Given the description of an element on the screen output the (x, y) to click on. 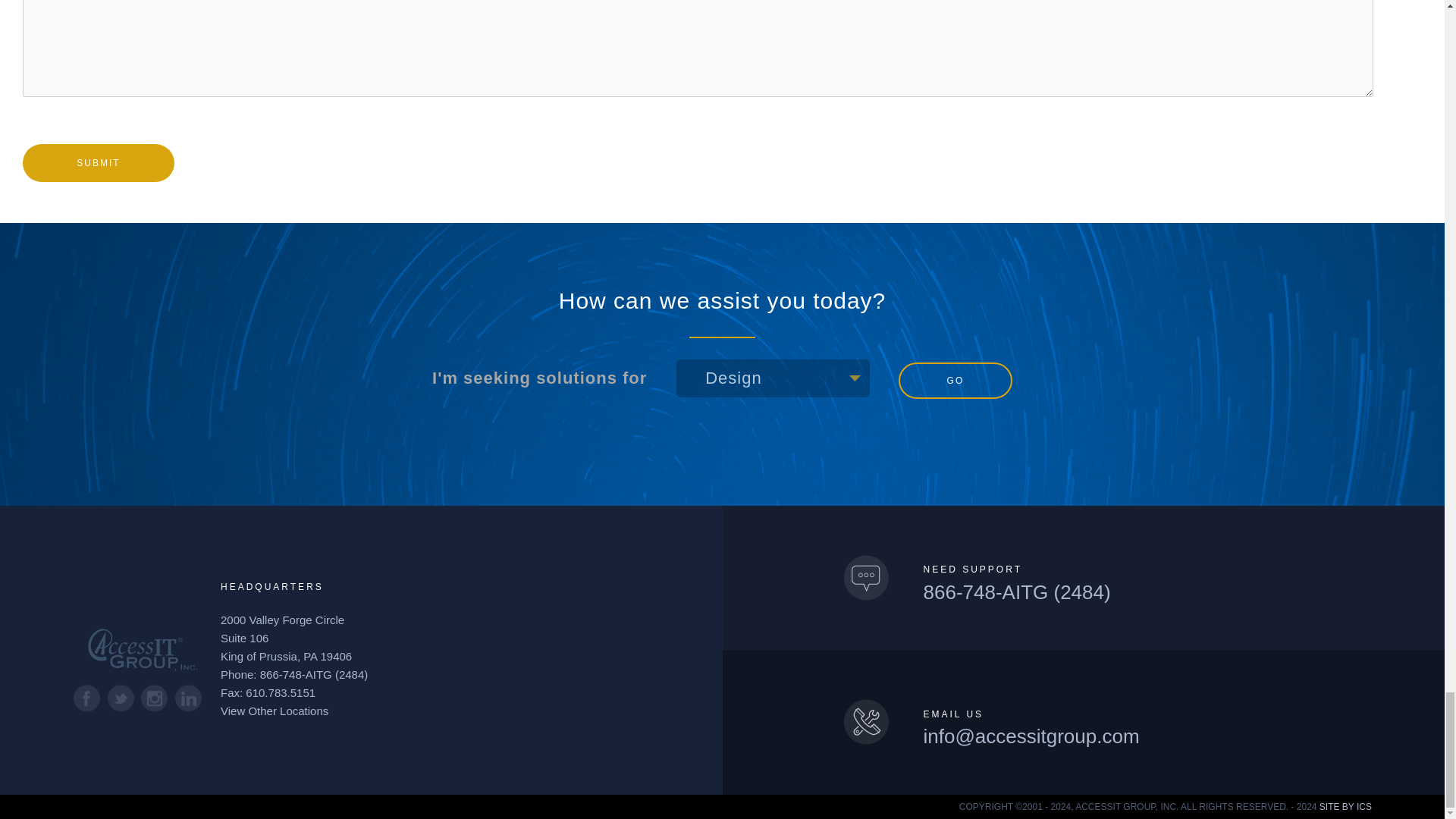
GO (954, 380)
Submit (98, 162)
SITE BY ICS (1345, 806)
View Other Locations (275, 710)
Twitter (120, 697)
Instagram (154, 697)
Facebook (87, 697)
LinkedIn (188, 697)
Submit (98, 162)
